Given the description of an element on the screen output the (x, y) to click on. 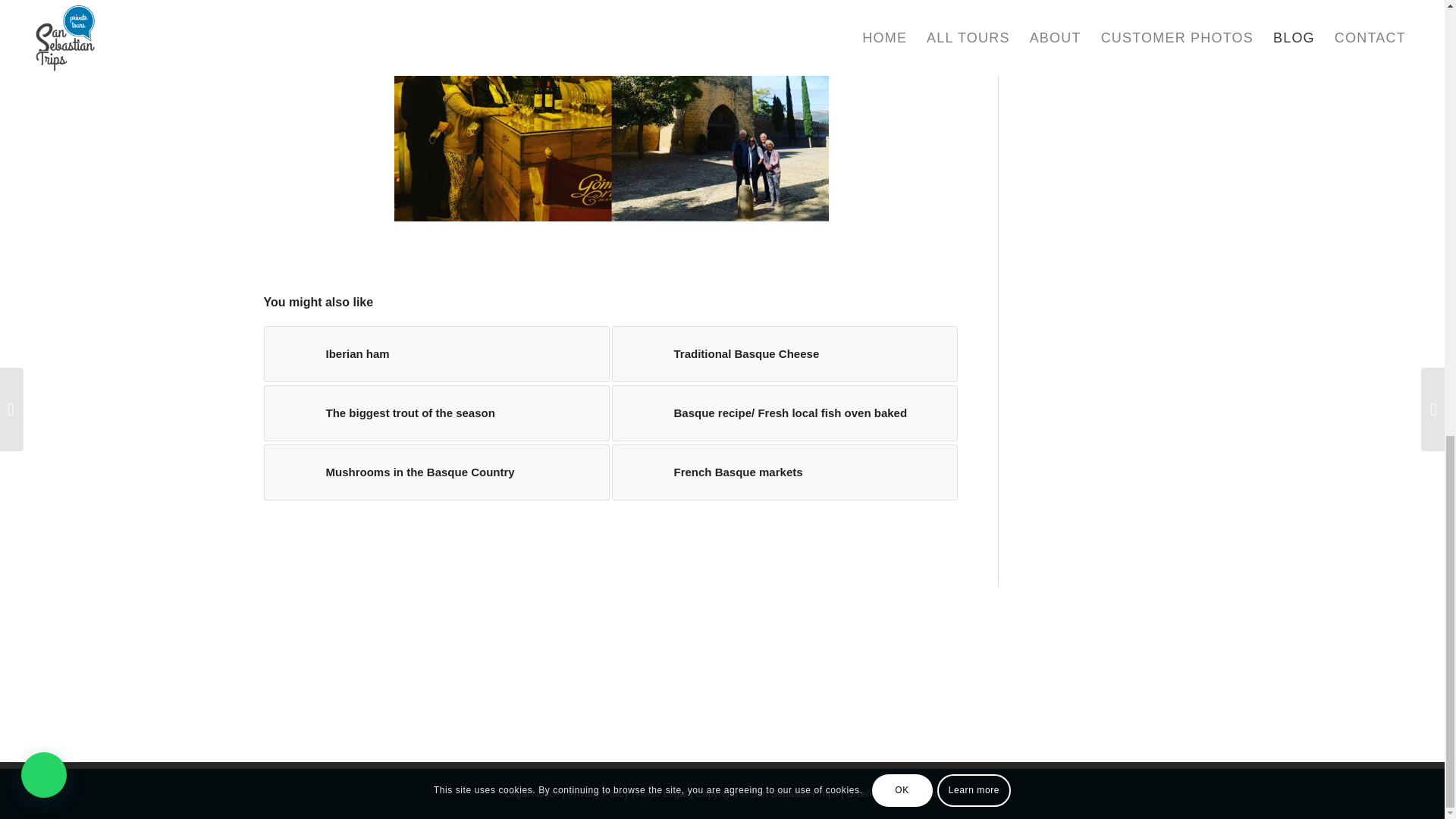
French Basque markets (783, 472)
Mushrooms in the Basque Country (436, 472)
The biggest trout of the season (436, 412)
plato-de-salchichas-y-ostras-en-burdeos (639, 472)
Trout in a  basque river (290, 412)
Traditional Basque Cheese (783, 353)
The biggest trout of the season (436, 412)
Iberian ham (436, 353)
Mushrooms in the Basque Country (436, 472)
Iberian ham (436, 353)
Traditional Basque Cheese (783, 353)
basque cheese (639, 353)
cerdo dehesa (290, 353)
Boletus Edulis (290, 472)
French Basque markets (783, 472)
